Given the description of an element on the screen output the (x, y) to click on. 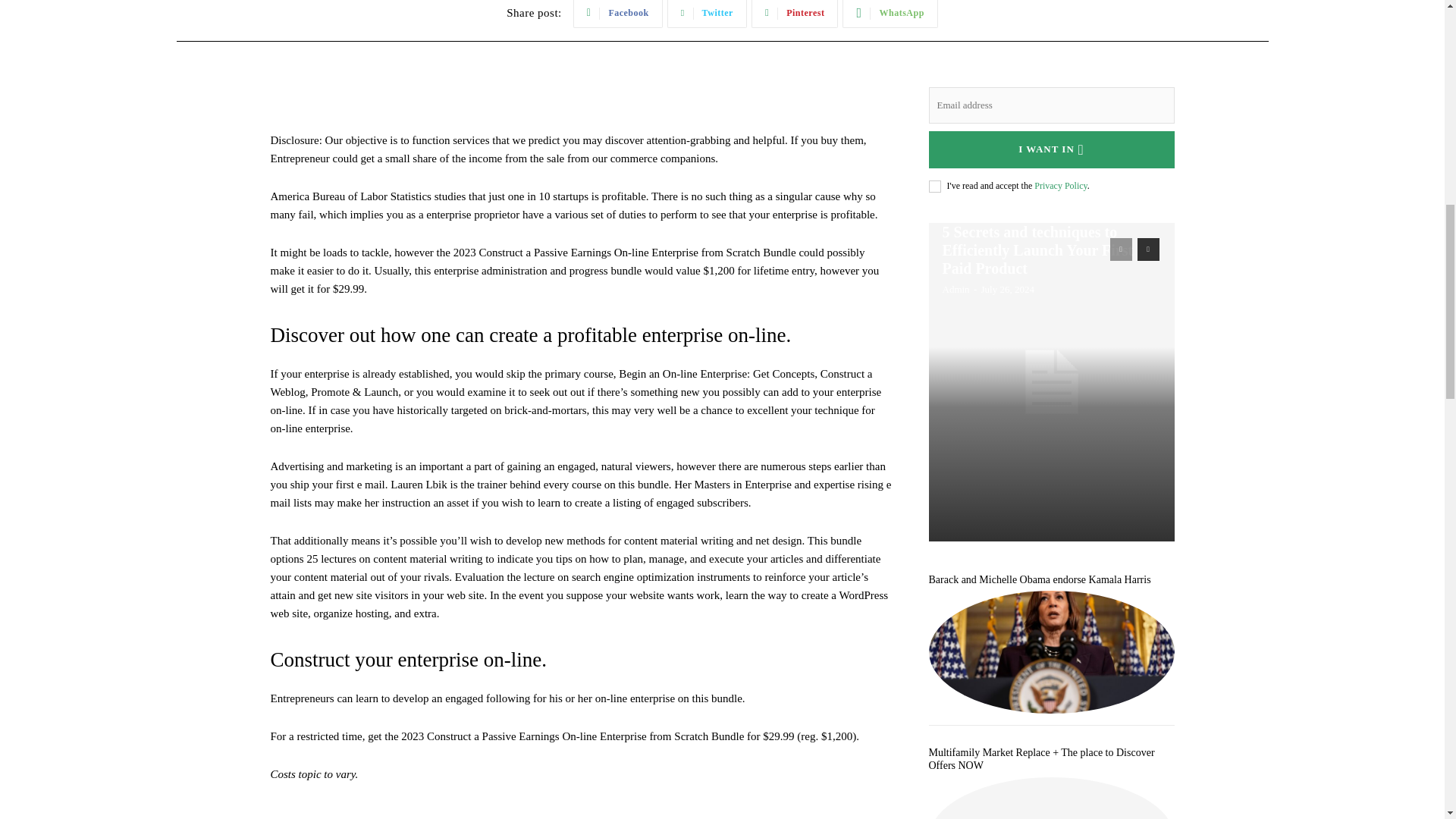
Pinterest (794, 13)
Facebook (617, 13)
Barack and Michelle Obama endorse Kamala Harris (1050, 651)
Barack and Michelle Obama endorse Kamala Harris (1039, 579)
Twitter (706, 13)
WhatsApp (890, 13)
